Given the description of an element on the screen output the (x, y) to click on. 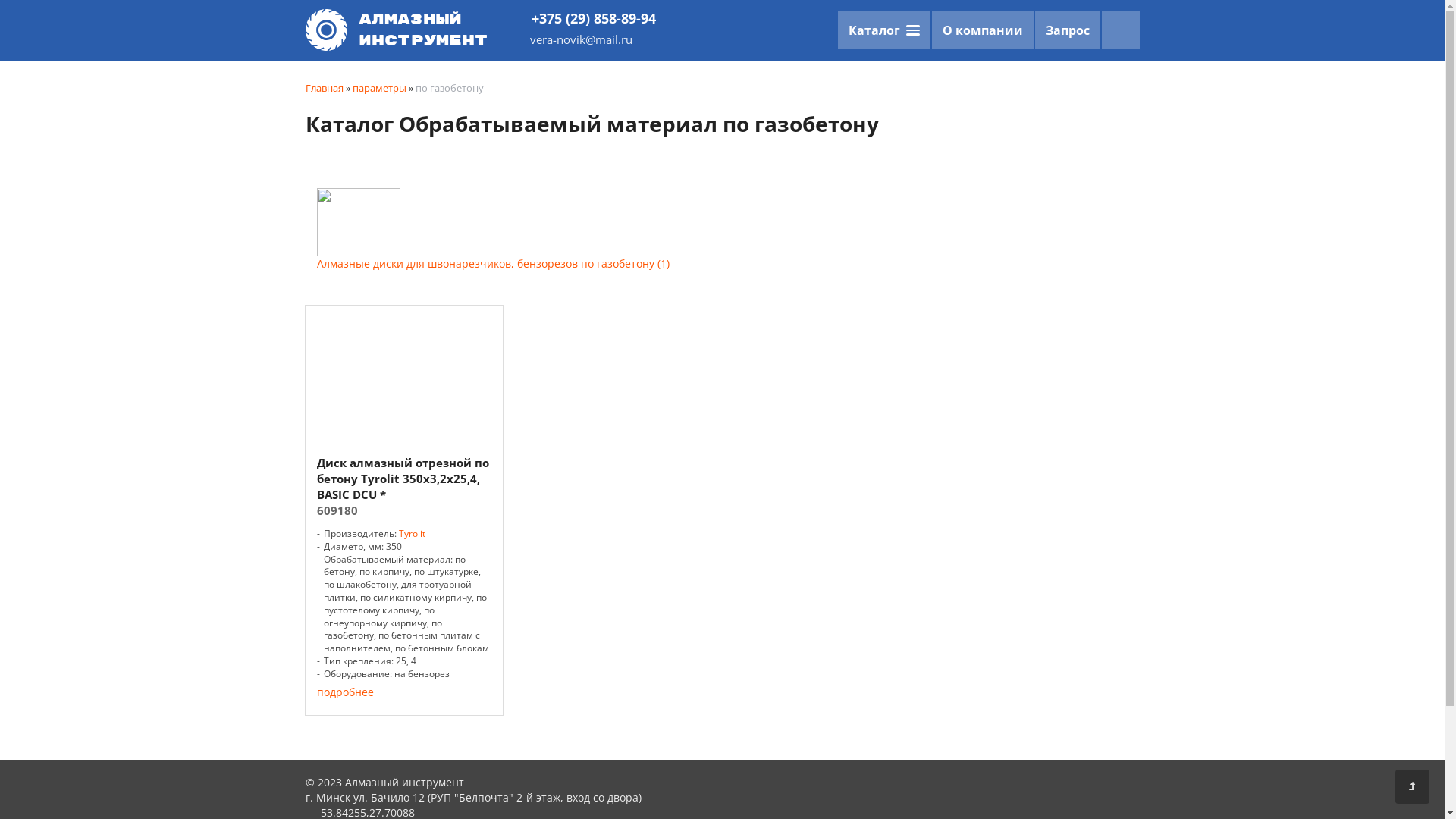
vera-novik@mail.ru Element type: text (585, 39)
Tyrolit Element type: text (411, 533)
+375 (29) 858-89-94 Element type: text (585, 18)
